Given the description of an element on the screen output the (x, y) to click on. 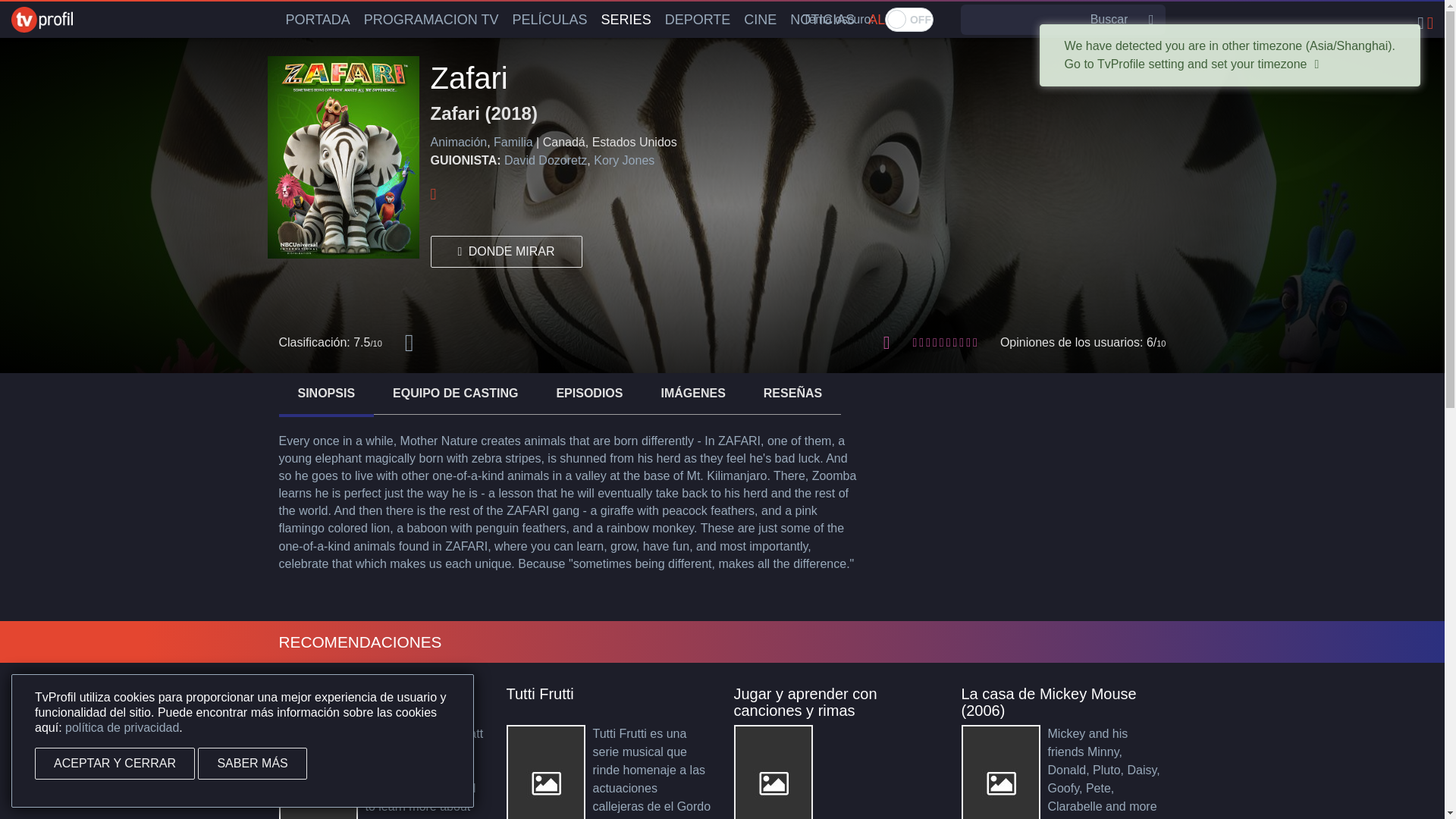
DONDE MIRAR (506, 251)
SERIES (626, 19)
CINE (759, 19)
David Dozoretz (544, 160)
EPISODIOS (588, 392)
DEPORTE (698, 19)
PORTADA (317, 19)
EQUIPO DE CASTING (454, 392)
Familia (512, 141)
NOTICIAS (822, 19)
